Given the description of an element on the screen output the (x, y) to click on. 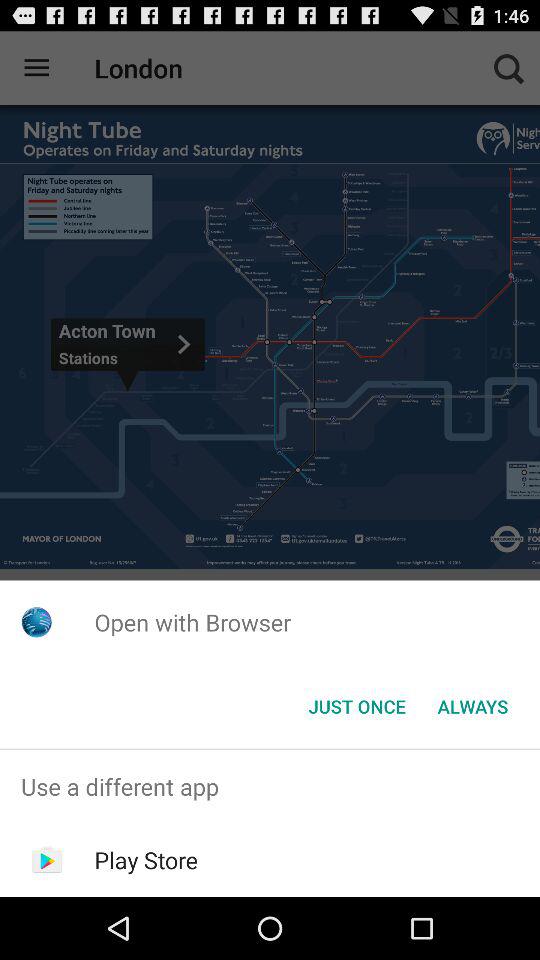
turn on the item to the right of just once (472, 706)
